Given the description of an element on the screen output the (x, y) to click on. 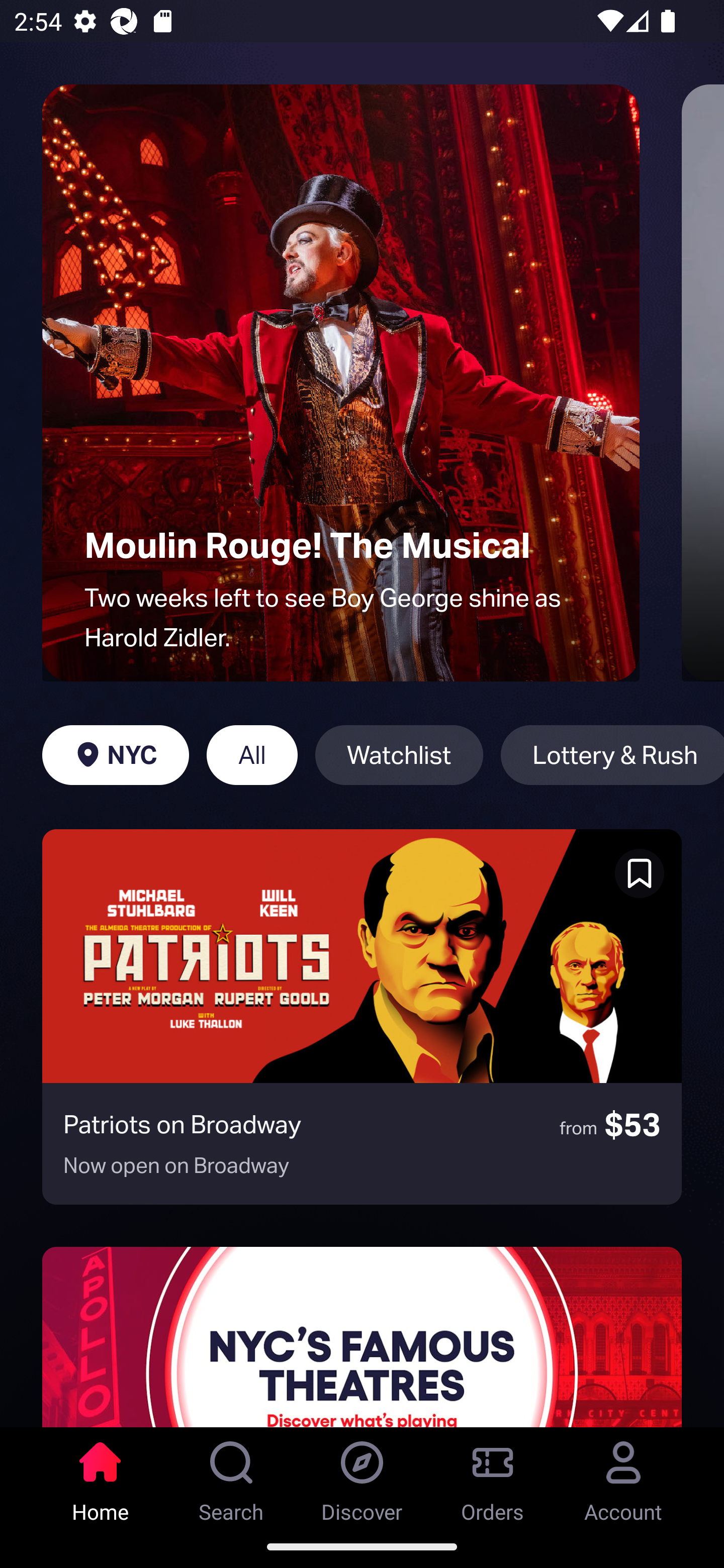
NYC (114, 754)
All (251, 754)
Watchlist (398, 754)
Lottery & Rush (612, 754)
Patriots on Broadway from $53 Now open on Broadway (361, 1016)
Search (230, 1475)
Discover (361, 1475)
Orders (492, 1475)
Account (623, 1475)
